Given the description of an element on the screen output the (x, y) to click on. 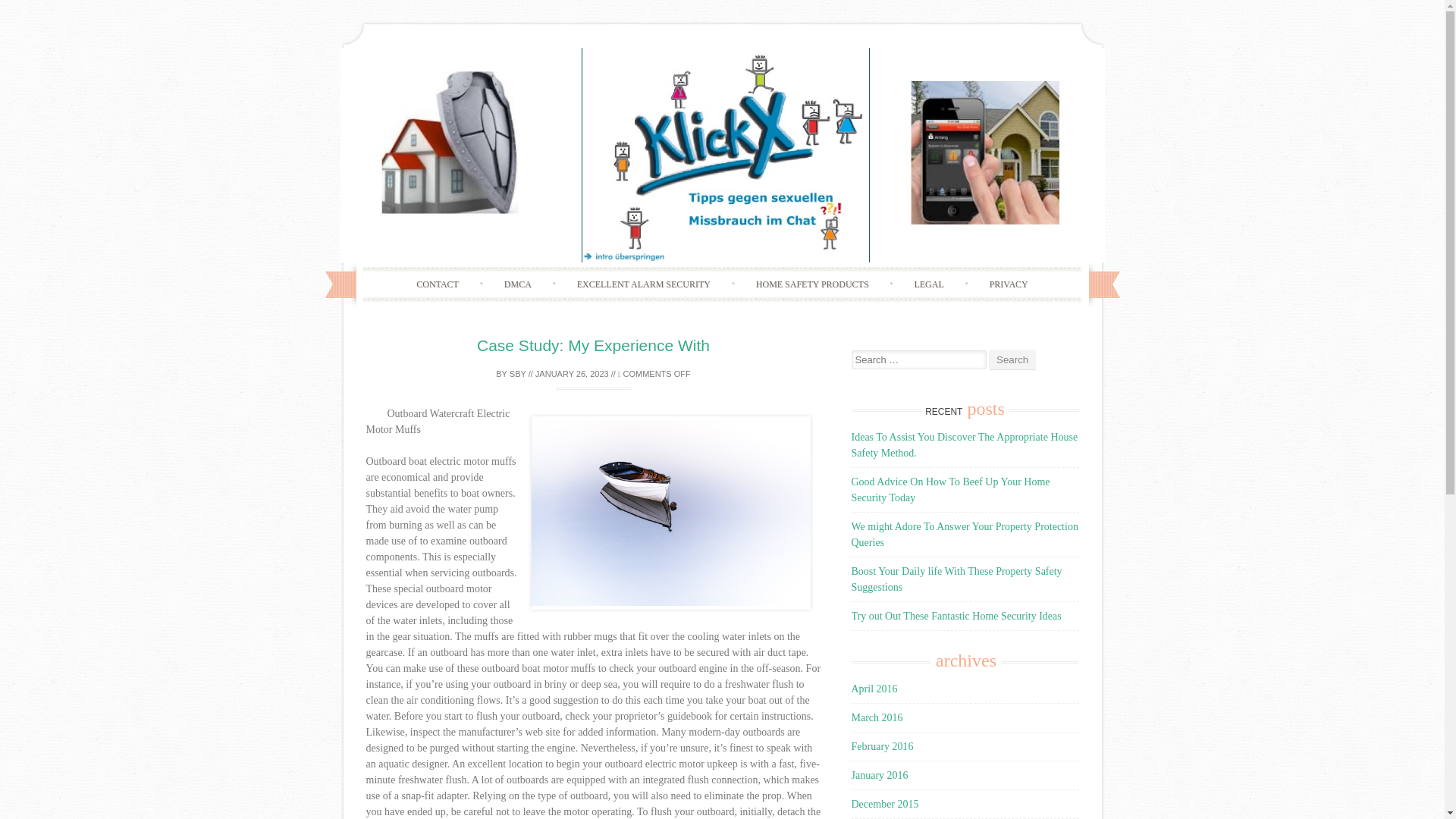
EXCELLENT ALARM SECURITY (644, 284)
SBY (517, 373)
April 2016 (873, 688)
JANUARY 26, 2023 (571, 373)
COMMENTS OFF (653, 373)
Case Study: My Experience With (593, 344)
Search (1011, 359)
CONTACT (437, 284)
Search (1011, 359)
